Given the description of an element on the screen output the (x, y) to click on. 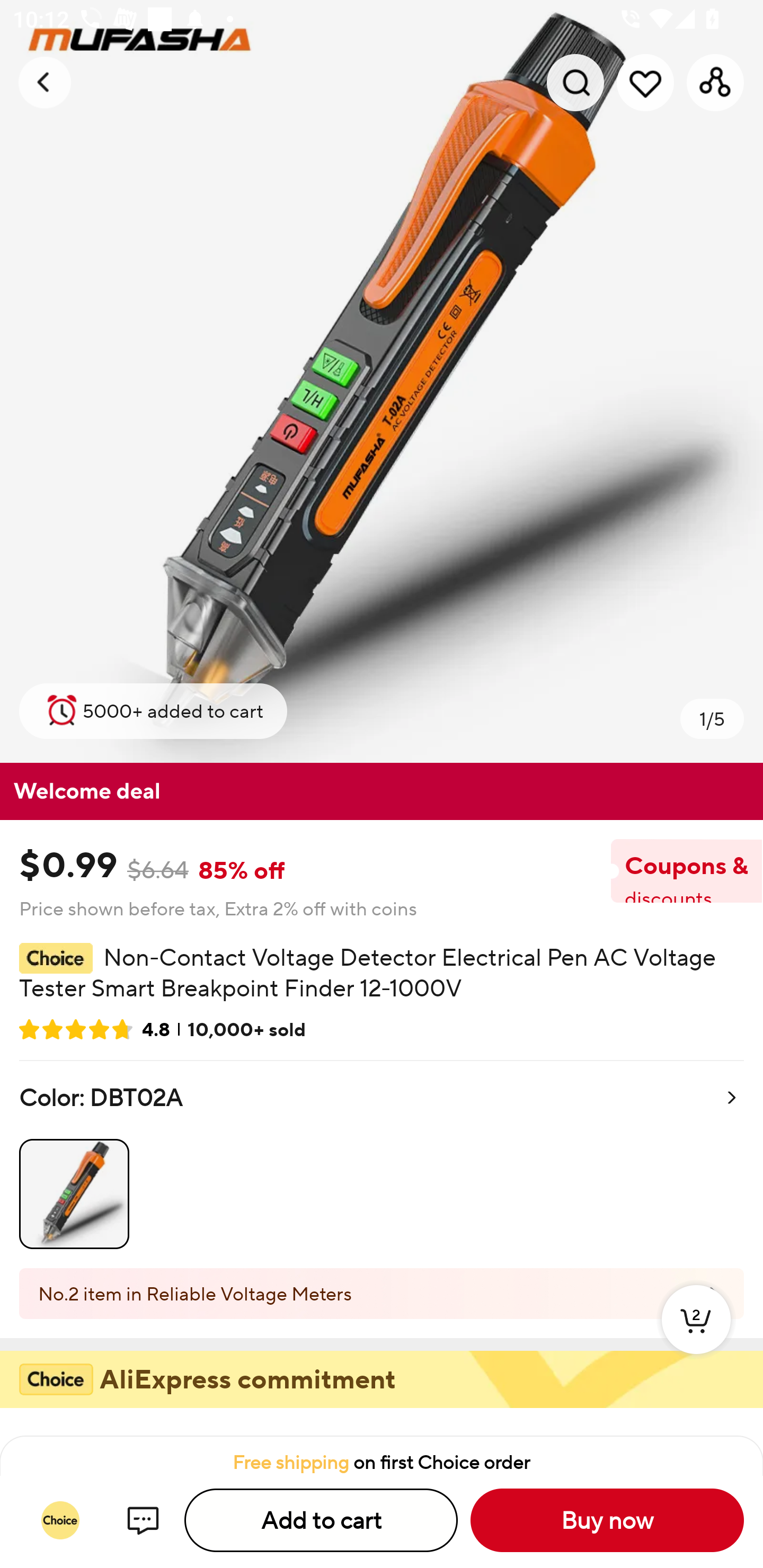
Navigate up (44, 82)
Color: DBT02A  (381, 1164)
2 (695, 1338)
Add to cart (320, 1520)
Buy now (606, 1520)
